Given the description of an element on the screen output the (x, y) to click on. 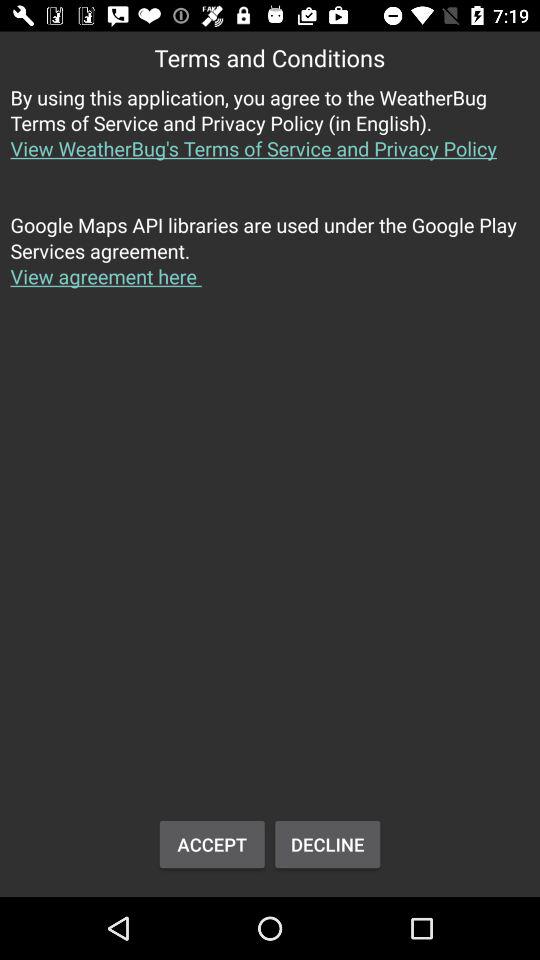
flip until accept item (212, 844)
